Given the description of an element on the screen output the (x, y) to click on. 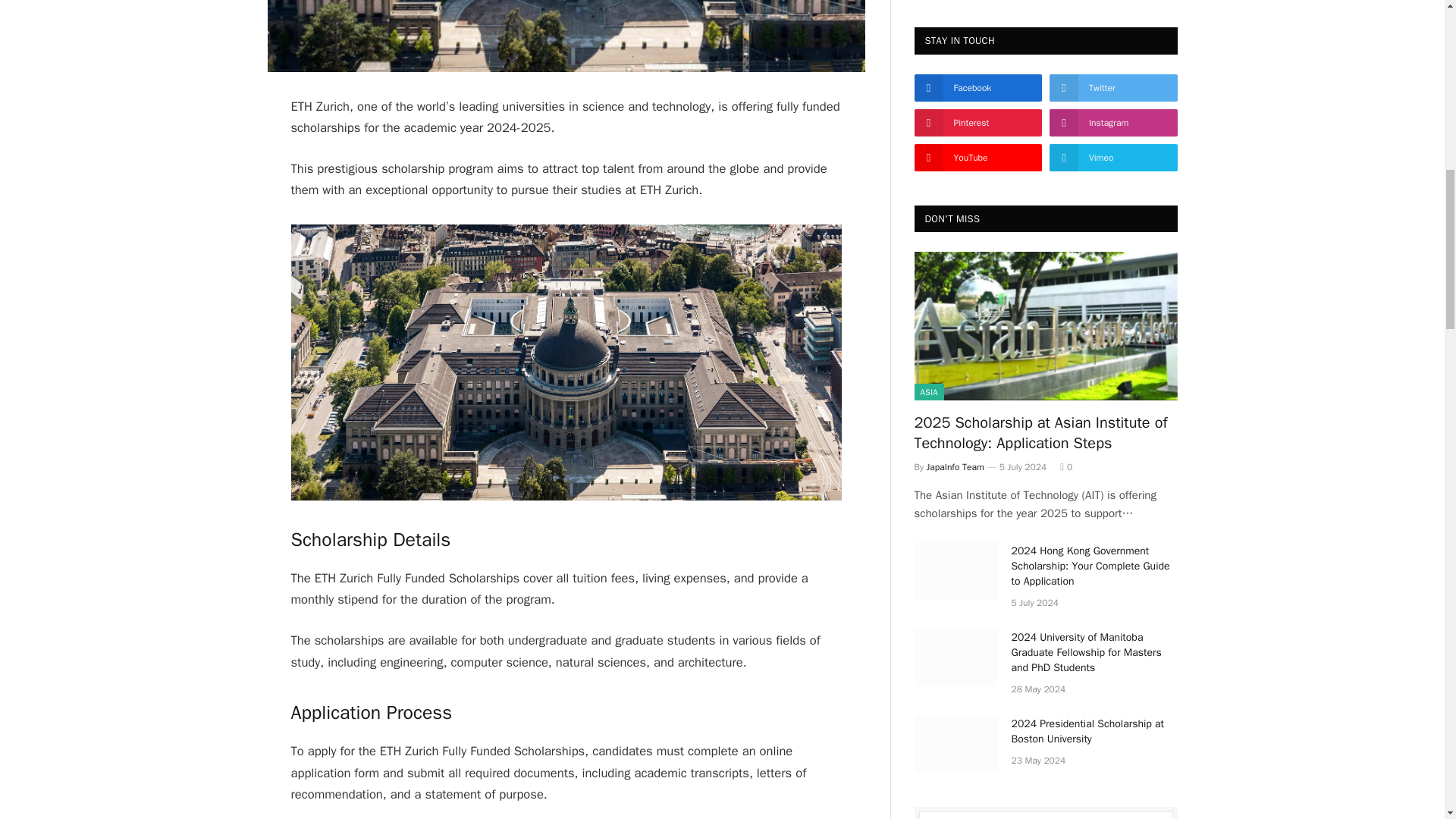
ETH Zurich Fully Funded Scholarships 2024-2025 (565, 36)
